Given the description of an element on the screen output the (x, y) to click on. 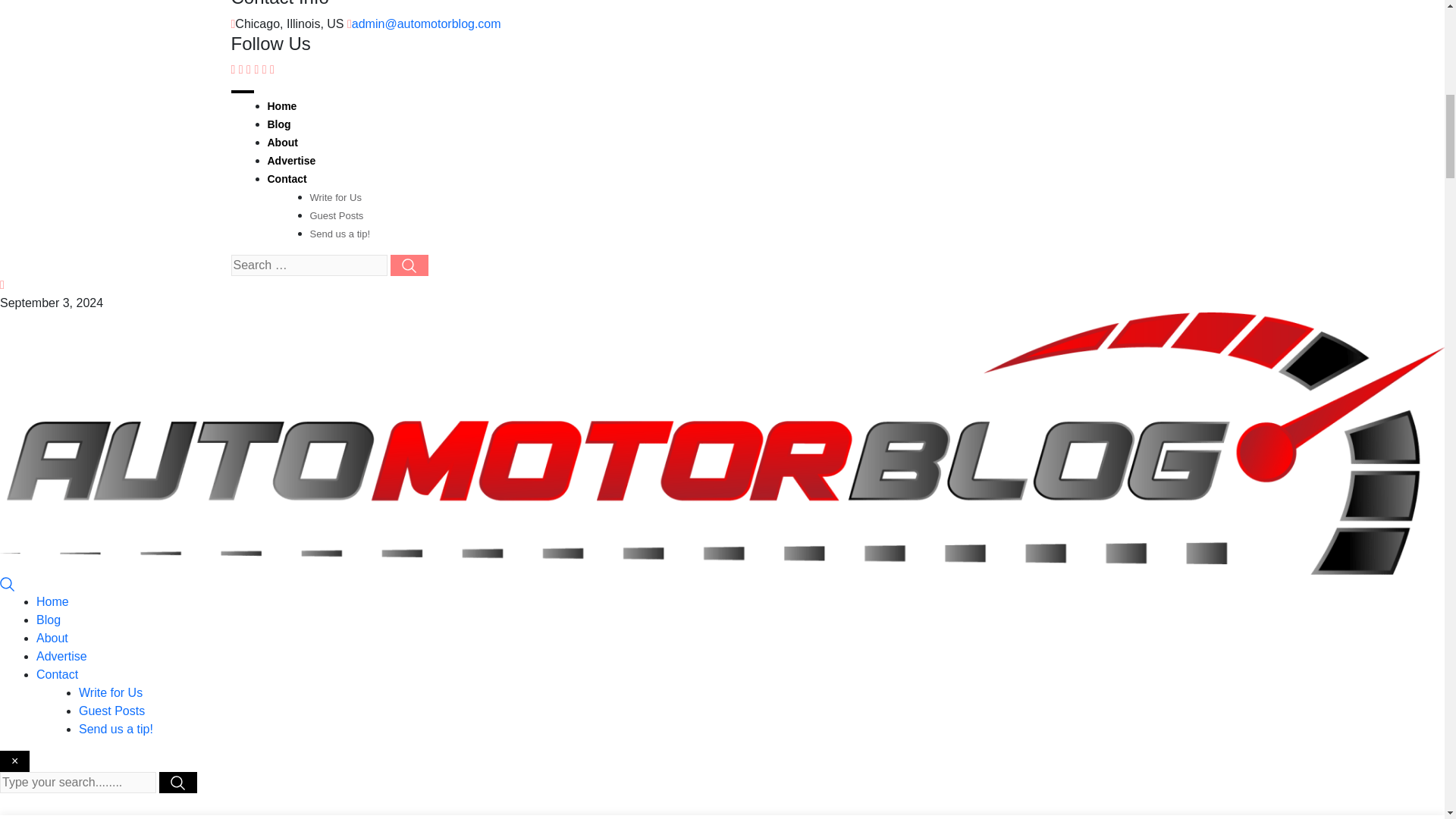
Advertise (290, 160)
Home (281, 105)
Guest Posts (111, 710)
Advertise (61, 656)
Blog (277, 123)
Home (52, 601)
Guest Posts (335, 215)
Go to the Featured Category archives. (654, 818)
About (52, 637)
